Given the description of an element on the screen output the (x, y) to click on. 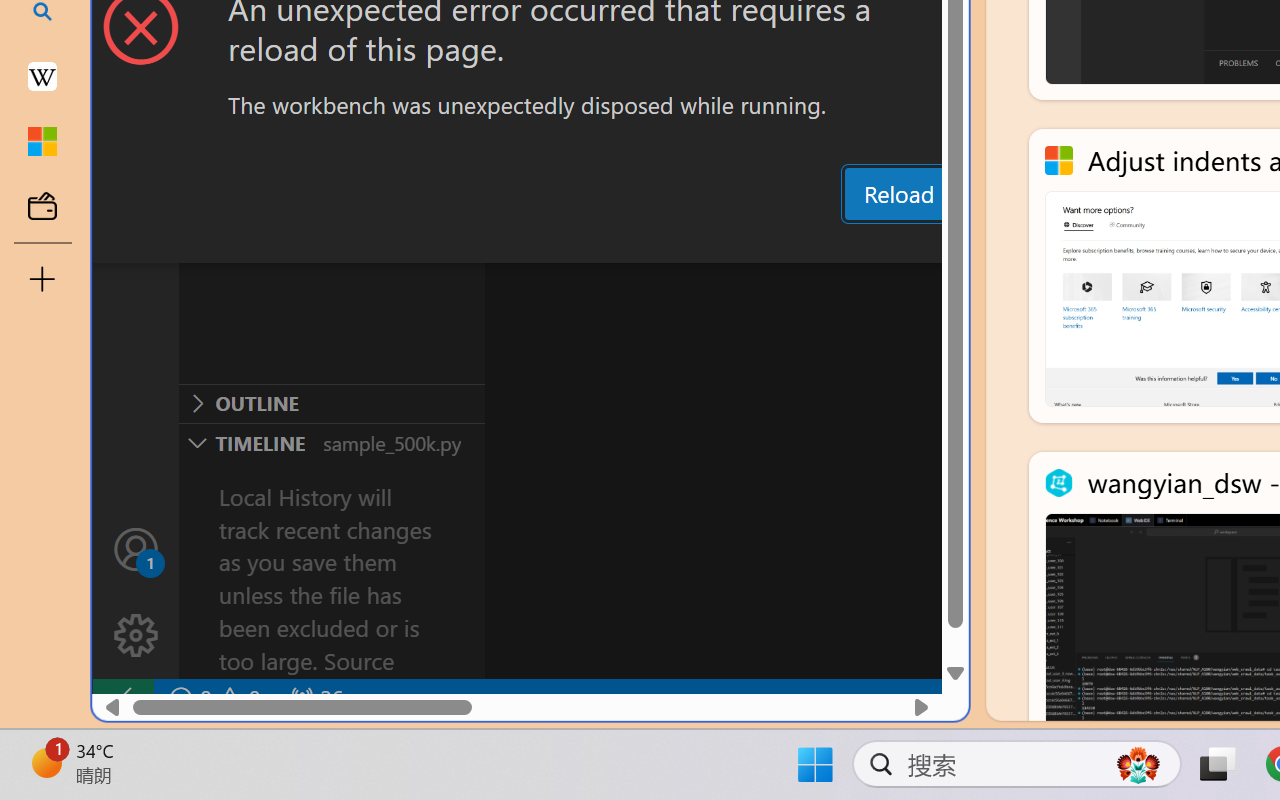
Accounts - Sign in requested (135, 548)
Earth - Wikipedia (42, 75)
Reload (898, 193)
Problems (Ctrl+Shift+M) (567, 243)
Timeline Section (331, 442)
Outline Section (331, 403)
remote (122, 698)
Terminal (Ctrl+`) (1021, 243)
No Problems (212, 698)
